Given the description of an element on the screen output the (x, y) to click on. 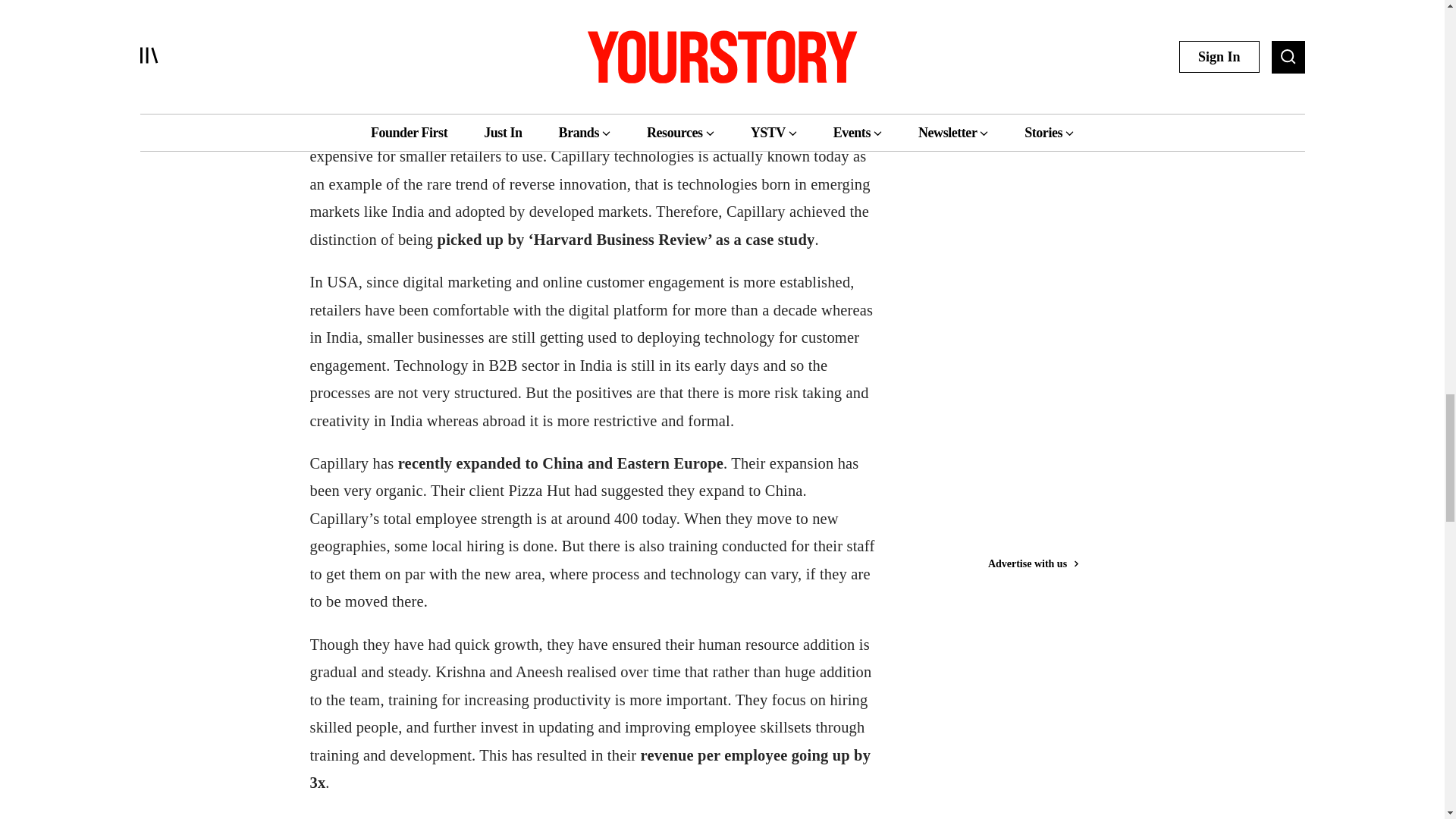
3rd party ad content (1043, 36)
